Given the description of an element on the screen output the (x, y) to click on. 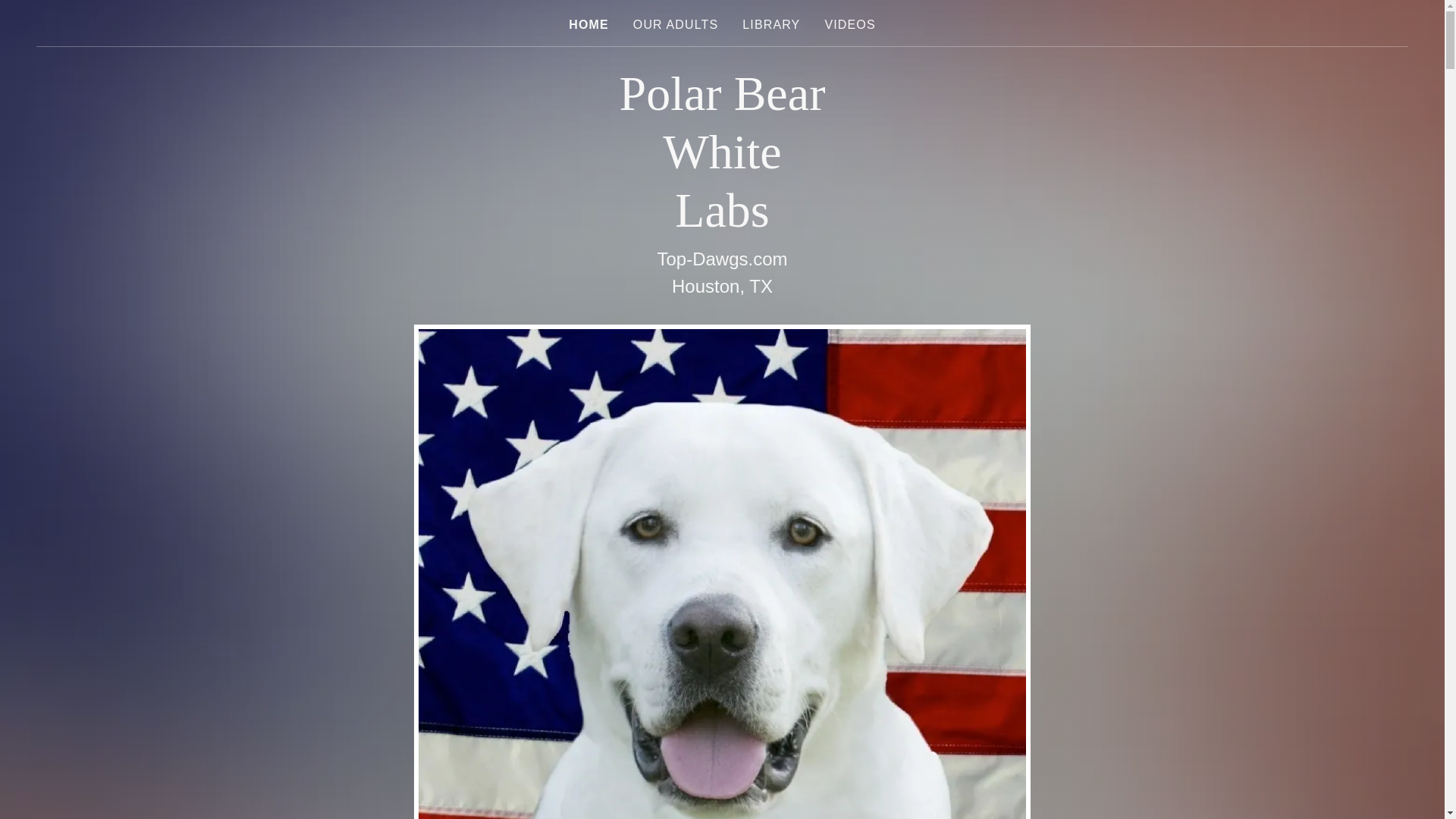
HOME (588, 24)
LIBRARY (771, 24)
OUR ADULTS (675, 24)
VIDEOS (849, 24)
